Given the description of an element on the screen output the (x, y) to click on. 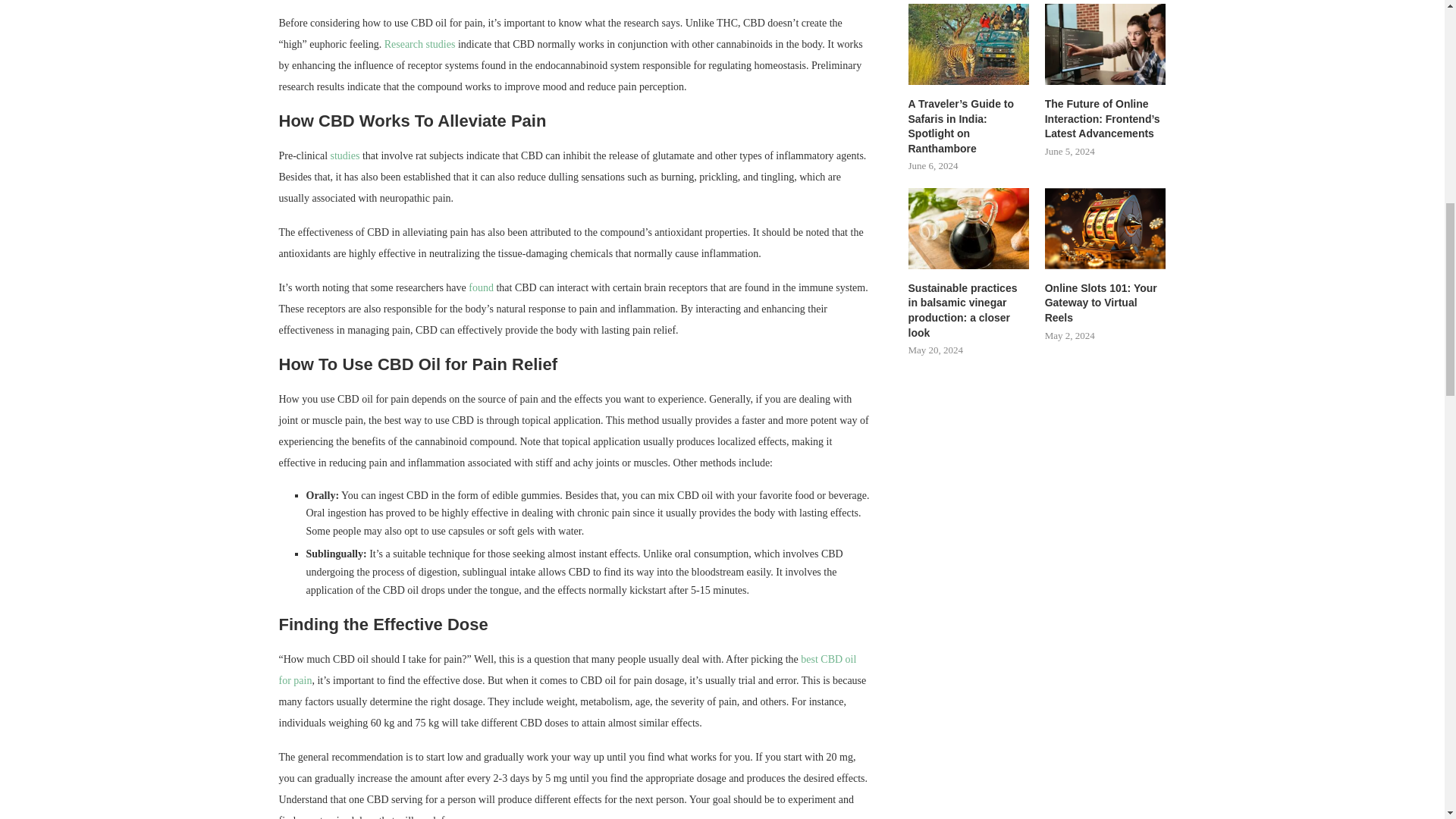
studies (344, 155)
Research studies (419, 43)
found (480, 287)
best CBD oil for pain (568, 669)
